Given the description of an element on the screen output the (x, y) to click on. 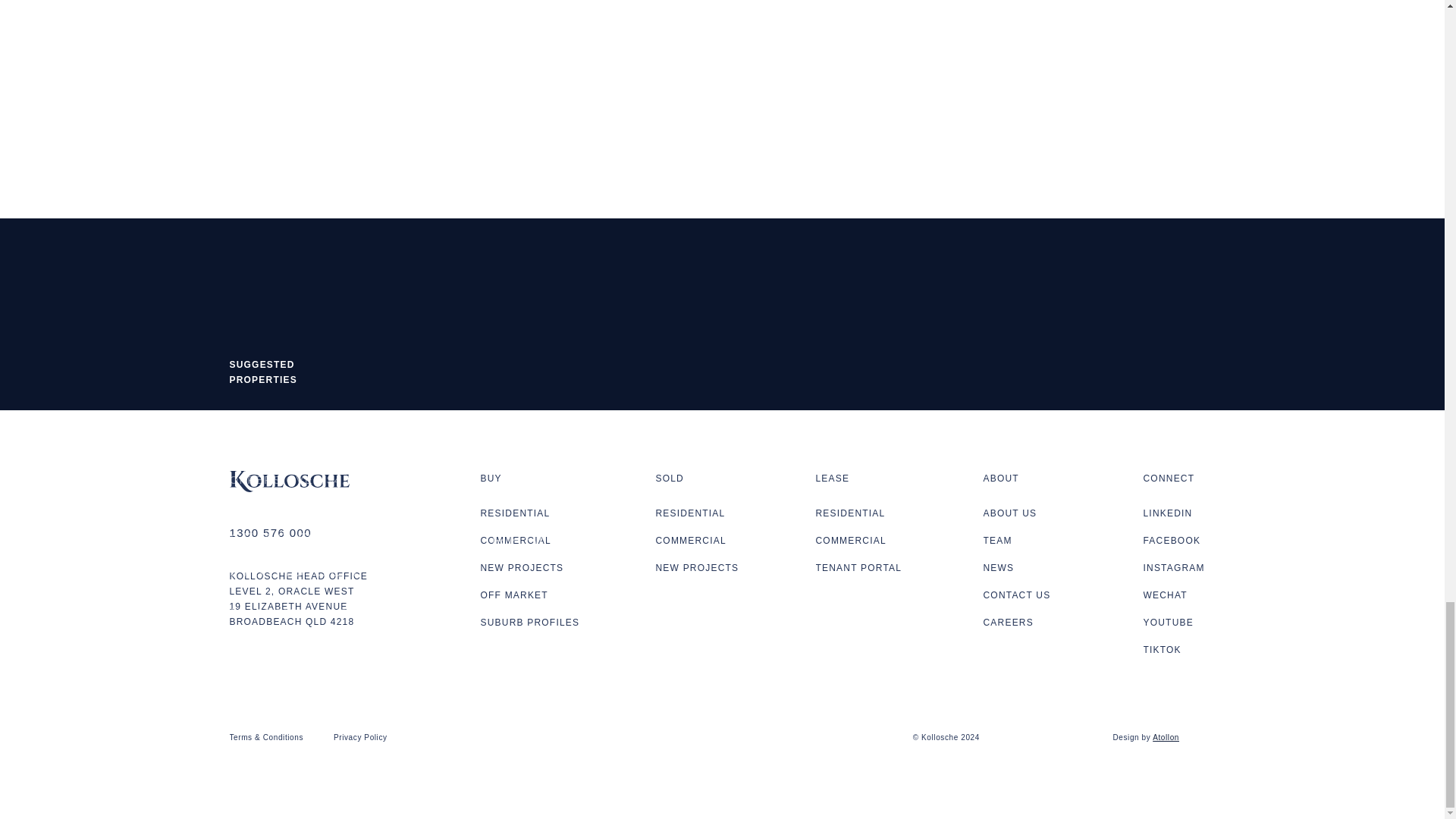
Kollosche (288, 491)
